Given the description of an element on the screen output the (x, y) to click on. 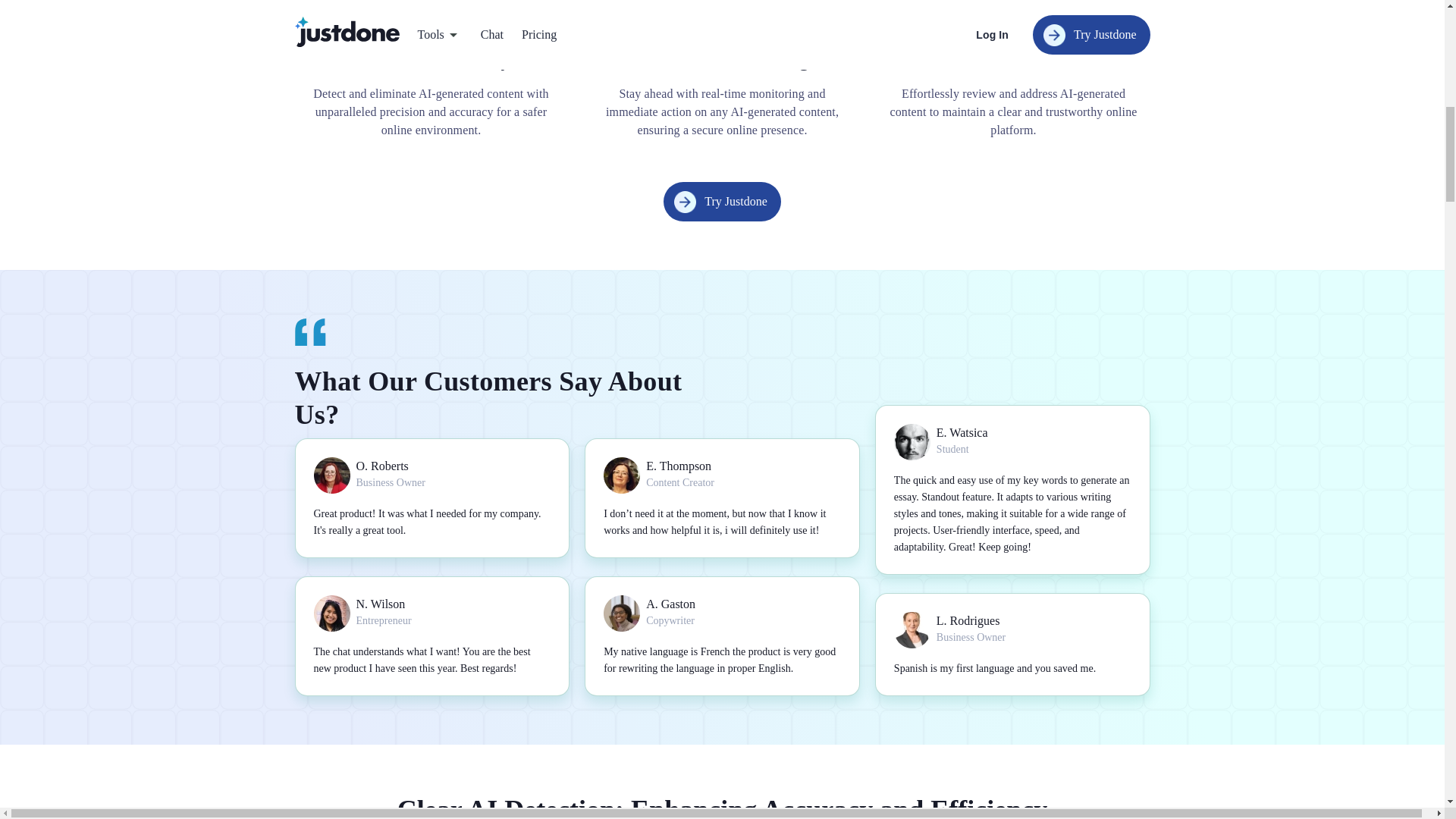
Try Justdone (721, 201)
